Given the description of an element on the screen output the (x, y) to click on. 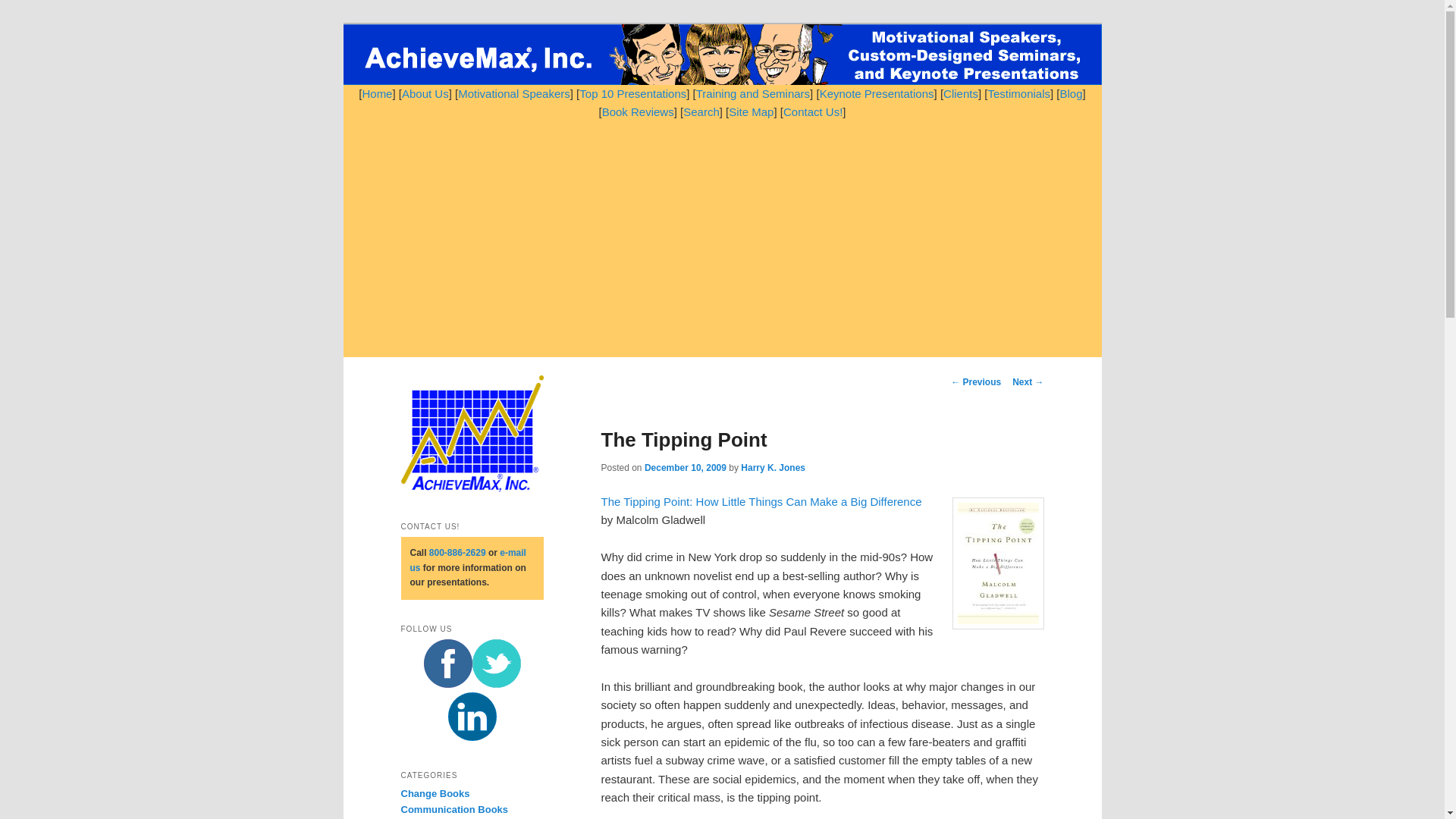
Contact Us! (813, 111)
Top 10 Presentations (632, 92)
About Us (424, 92)
Blog (1071, 92)
Clients (960, 92)
4:00 pm (685, 467)
Search (700, 111)
Harry K. Jones (773, 467)
Training and Seminars (752, 92)
December 10, 2009 (685, 467)
Keynote Presentations (876, 92)
Book Reviews (638, 111)
Home (376, 92)
Motivational Speakers (514, 92)
